Given the description of an element on the screen output the (x, y) to click on. 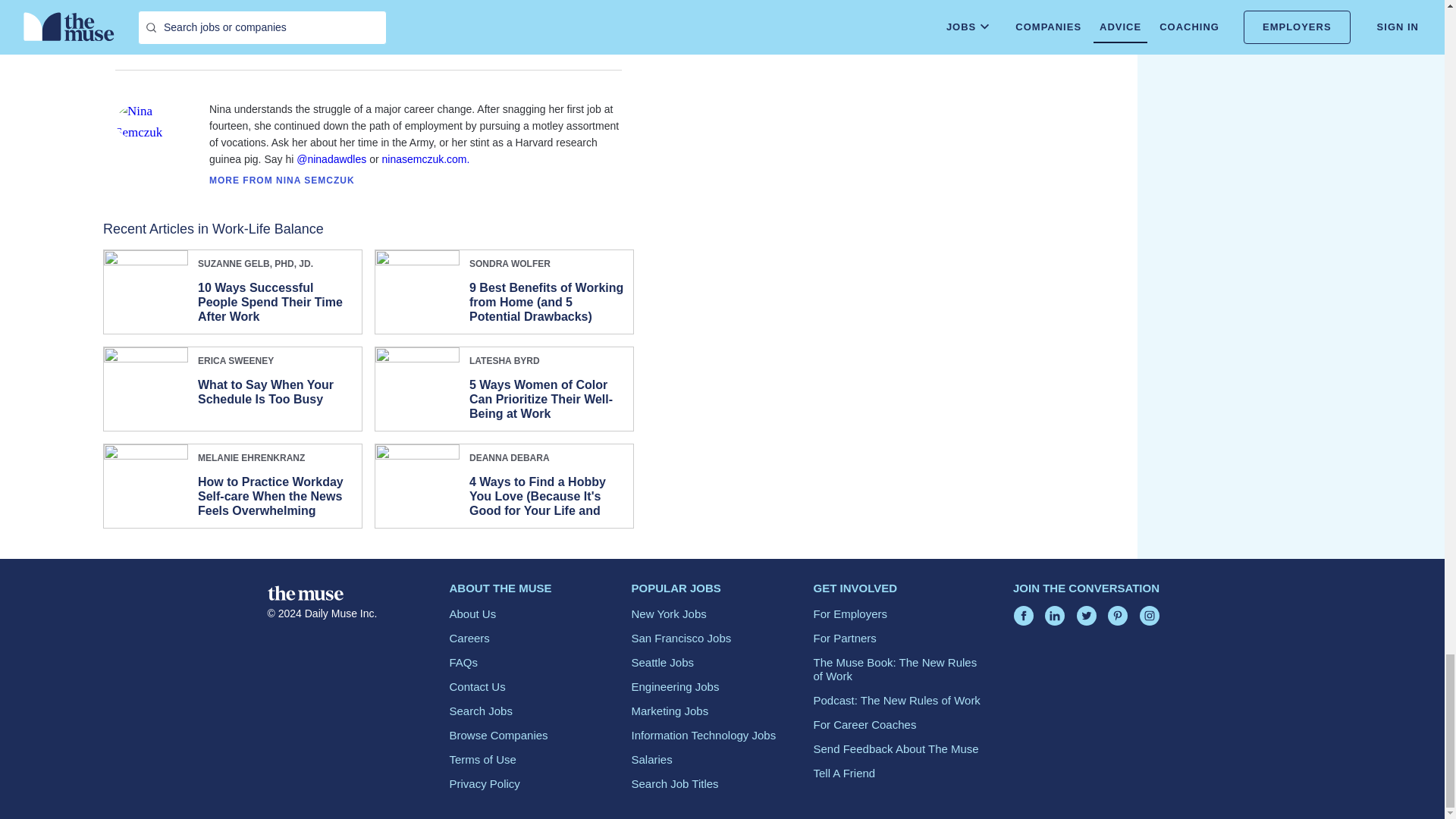
The Muse LogoA logo with "the muse" in white text. (304, 592)
